Given the description of an element on the screen output the (x, y) to click on. 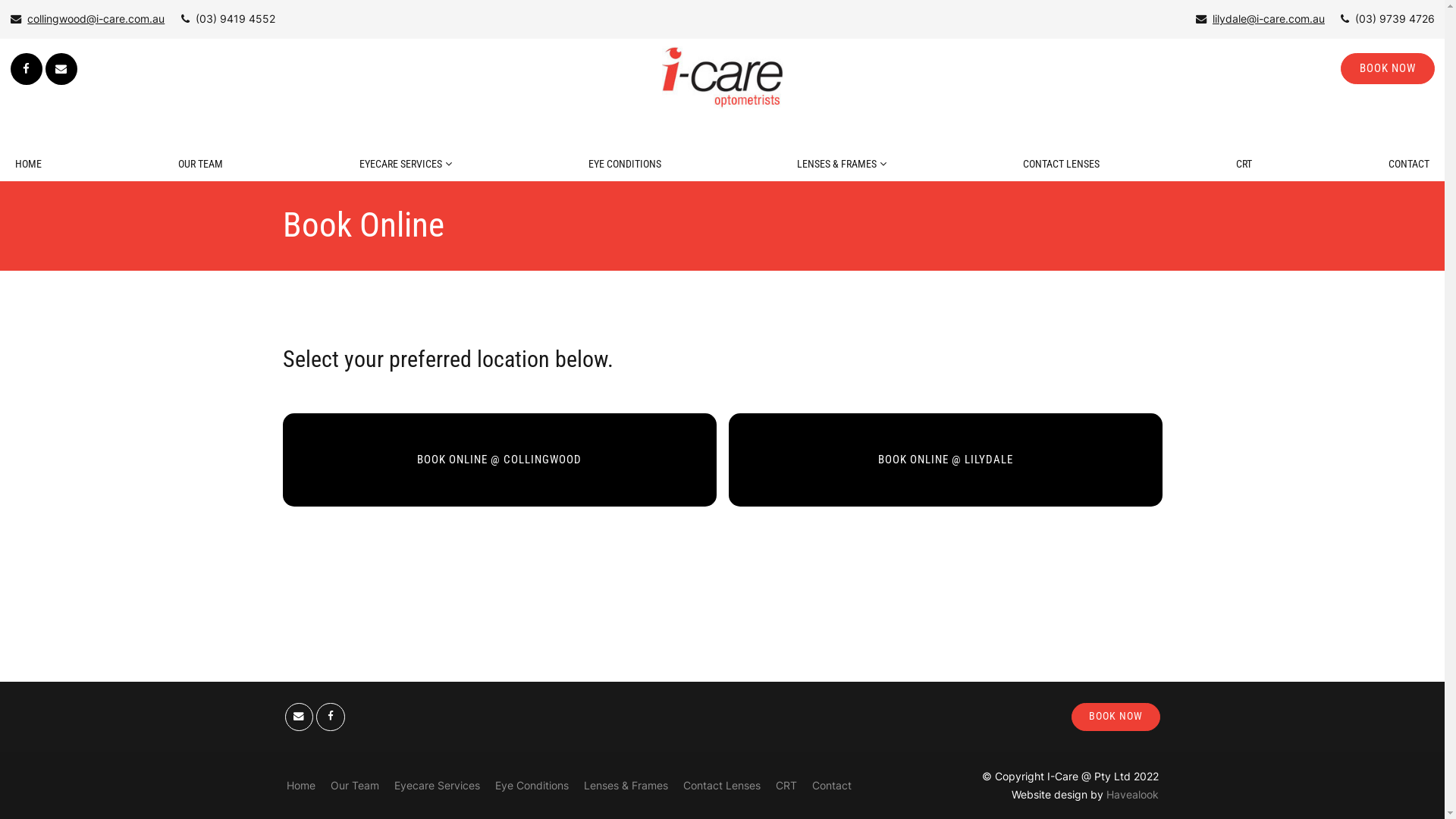
Eye Conditions Element type: text (530, 785)
Eyecare Services Element type: text (436, 785)
CRT Element type: text (785, 785)
EYECARE SERVICES Element type: text (405, 164)
Lenses & Frames Element type: text (625, 785)
lilydale@i-care.com.au Element type: text (1260, 18)
Home Element type: text (301, 785)
Our Team Element type: text (354, 785)
LENSES & FRAMES Element type: text (841, 164)
Havealook Element type: text (1131, 794)
EYE CONDITIONS Element type: text (624, 164)
Contact Lenses Element type: text (720, 785)
CONTACT LENSES Element type: text (1061, 164)
BOOK NOW Element type: text (1115, 716)
CRT Element type: text (1243, 164)
BOOK ONLINE @ COLLINGWOOD Element type: text (498, 458)
BOOK NOW Element type: text (1387, 68)
CONTACT Element type: text (1408, 164)
HOME Element type: text (28, 164)
OUR TEAM Element type: text (200, 164)
Contact Element type: text (830, 785)
collingwood@i-care.com.au Element type: text (87, 18)
BOOK ONLINE @ LILYDALE Element type: text (944, 458)
